Given the description of an element on the screen output the (x, y) to click on. 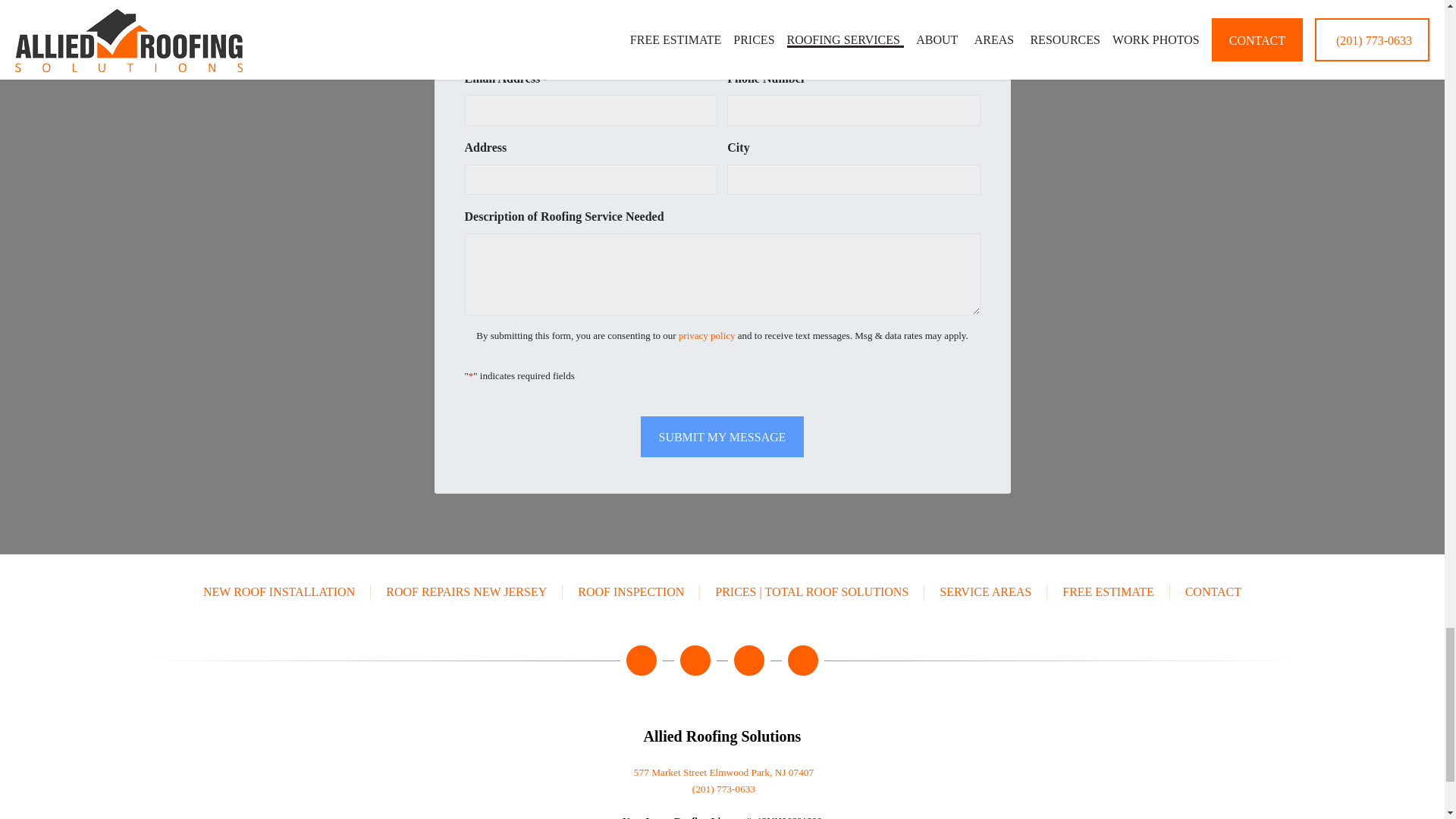
Submit Form (721, 436)
